Given the description of an element on the screen output the (x, y) to click on. 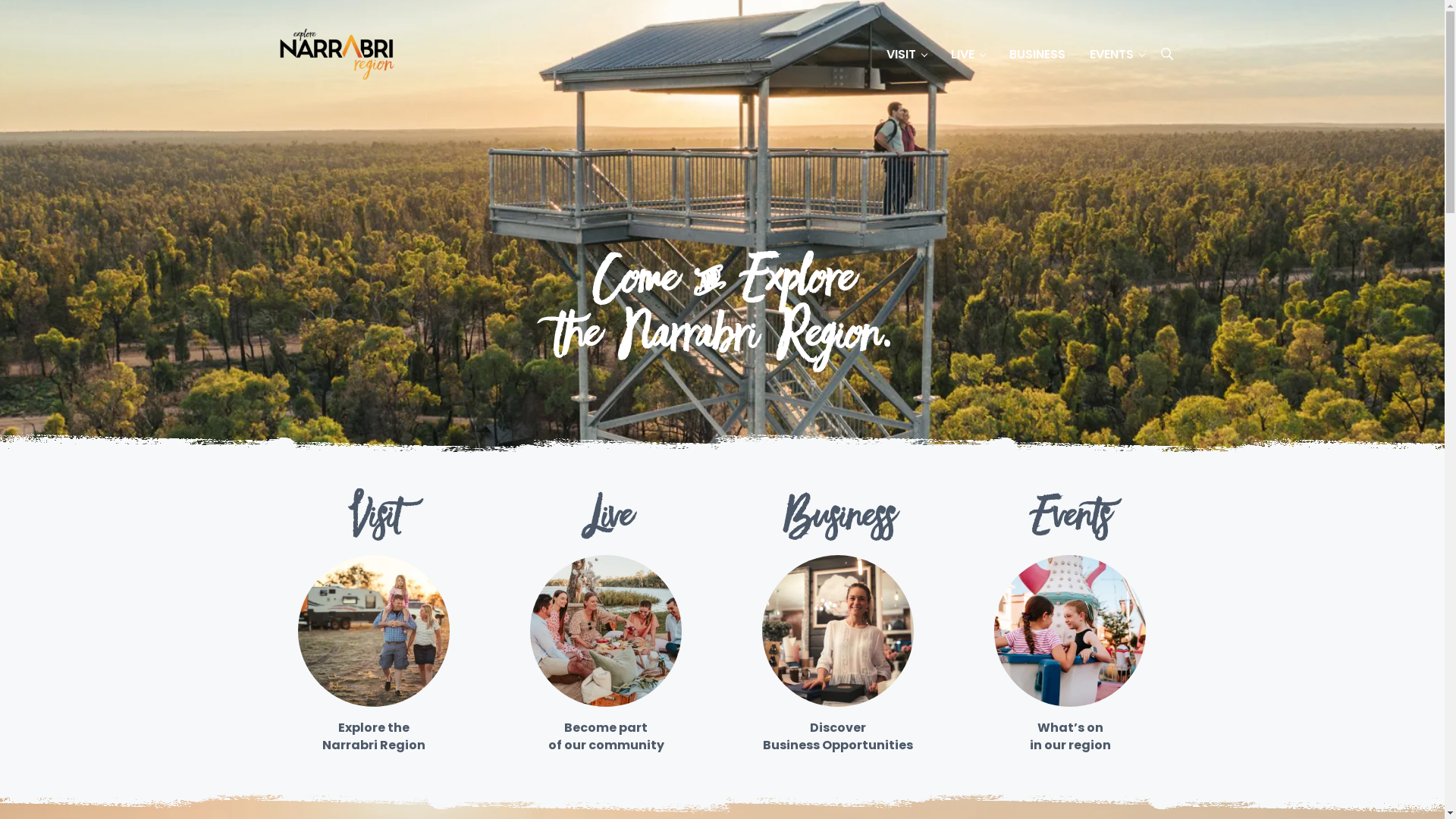
Visit Element type: text (373, 520)
Business Element type: text (837, 520)
Events Element type: text (1069, 520)
Live Element type: text (605, 520)
BUSINESS Element type: text (1036, 54)
Skip to main content Element type: text (0, 0)
Search Element type: text (1165, 53)
LIVE Element type: text (967, 54)
EVENTS Element type: text (1115, 54)
VISIT Element type: text (905, 54)
